Given the description of an element on the screen output the (x, y) to click on. 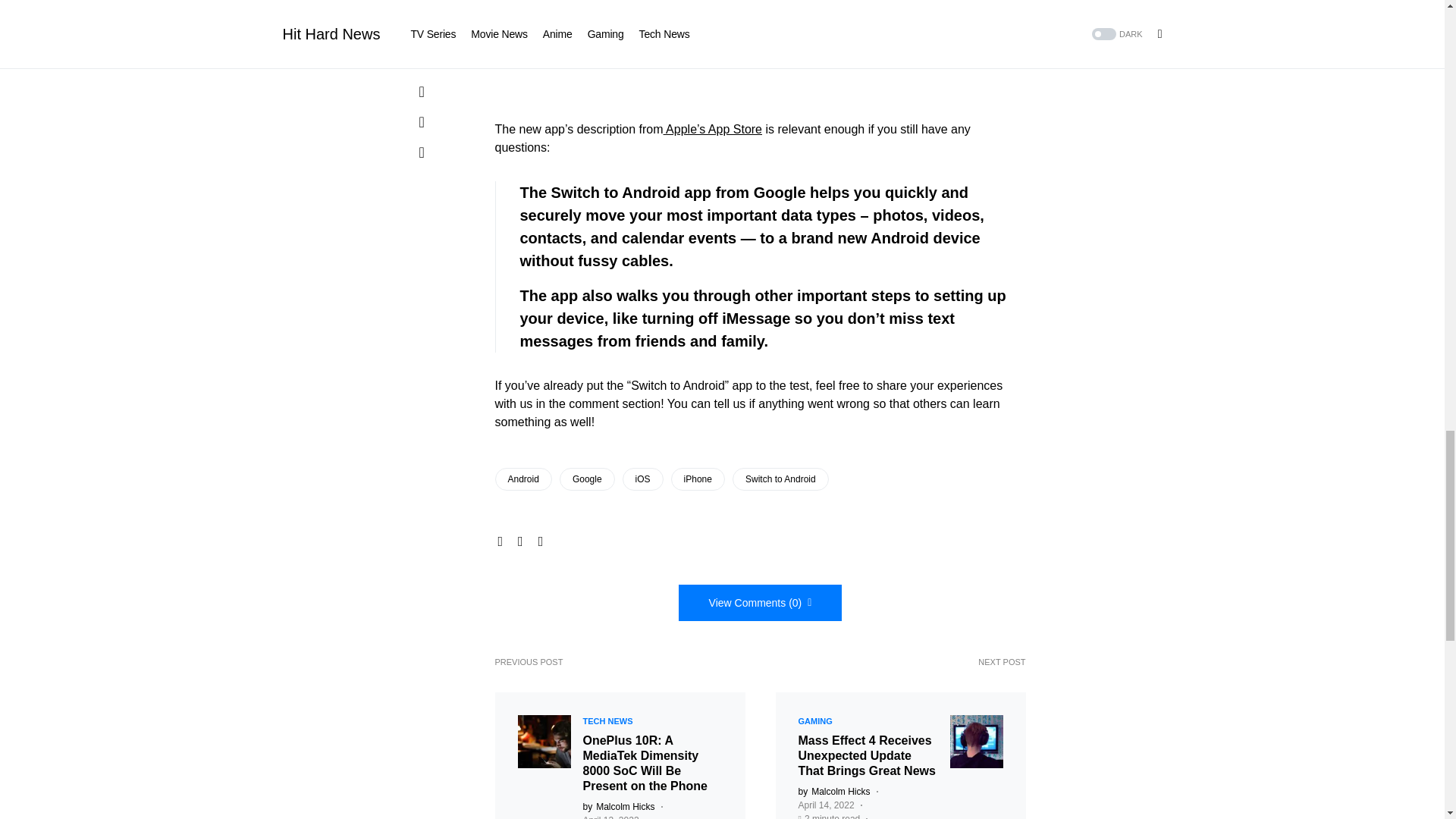
View all posts by Malcolm Hicks (617, 807)
View all posts by Malcolm Hicks (833, 791)
This is Google's new Switch to Android app in ACTION! (760, 45)
